Given the description of an element on the screen output the (x, y) to click on. 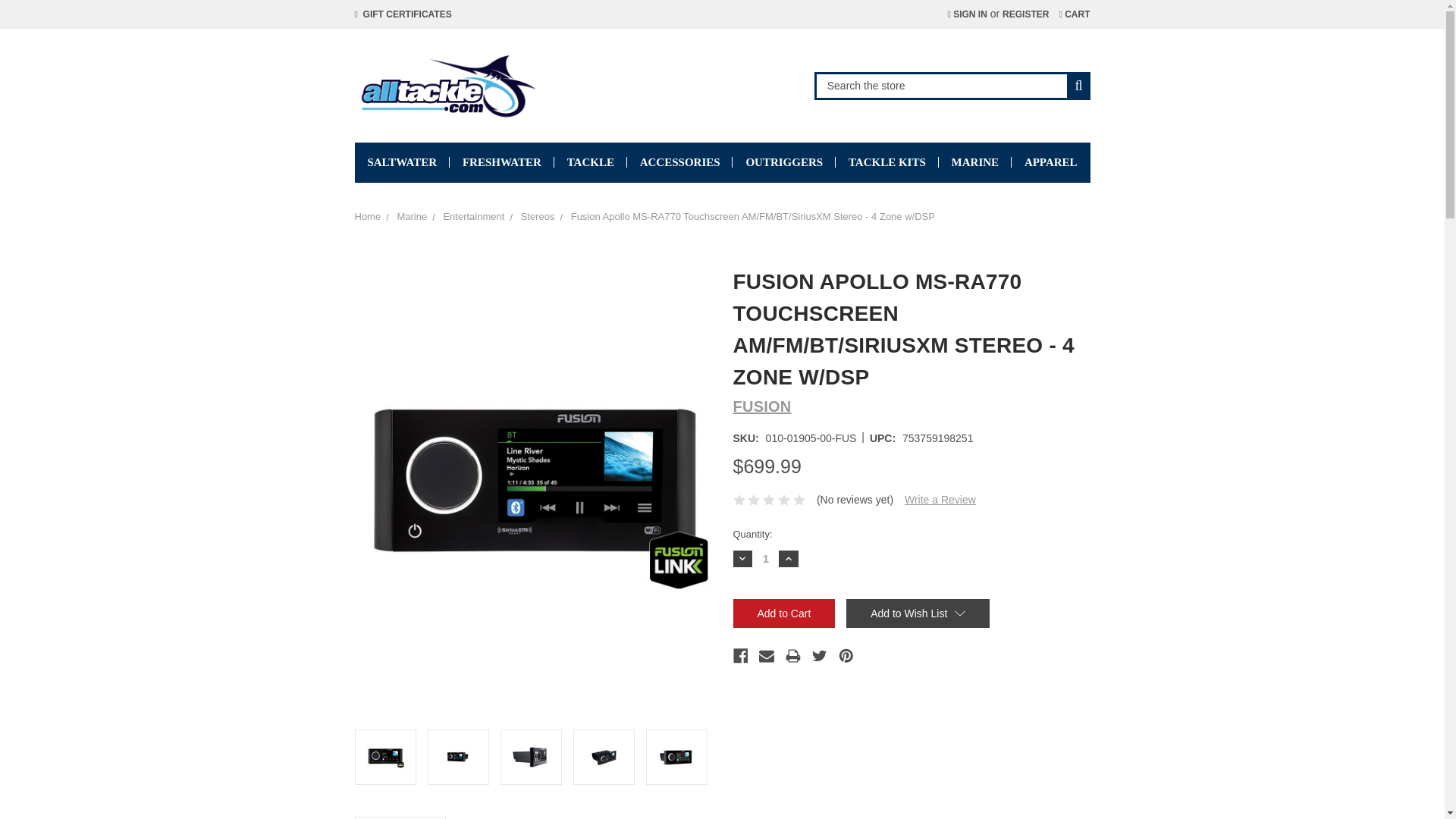
alltackle.com (447, 85)
  GIFT CERTIFICATES (403, 14)
SALTWATER (401, 162)
REGISTER (1025, 14)
SIGN IN (966, 14)
CART (1074, 14)
Add to Cart (783, 613)
1 (765, 558)
